Given the description of an element on the screen output the (x, y) to click on. 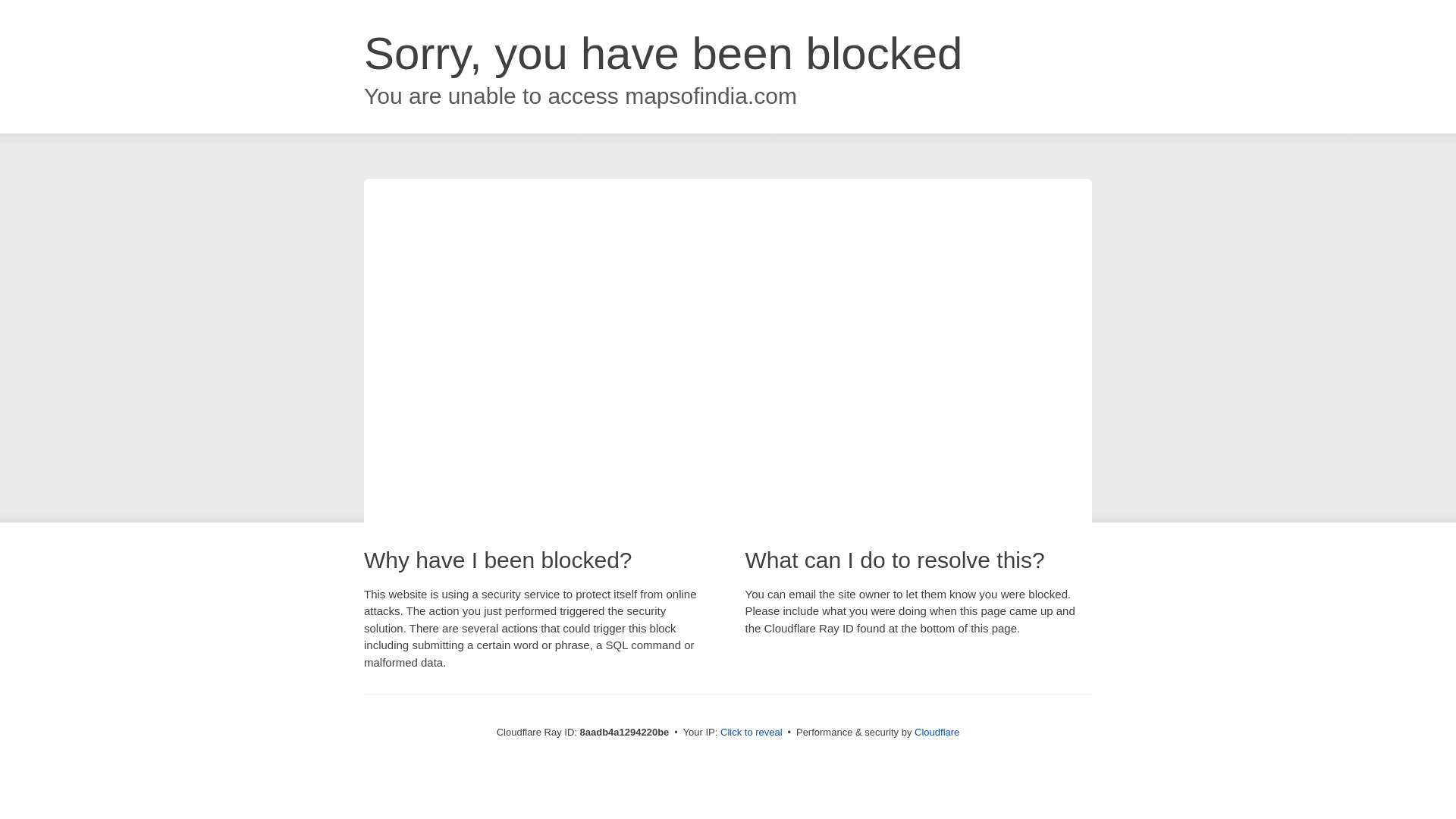
Cloudflare (936, 731)
Click to reveal (751, 732)
